Given the description of an element on the screen output the (x, y) to click on. 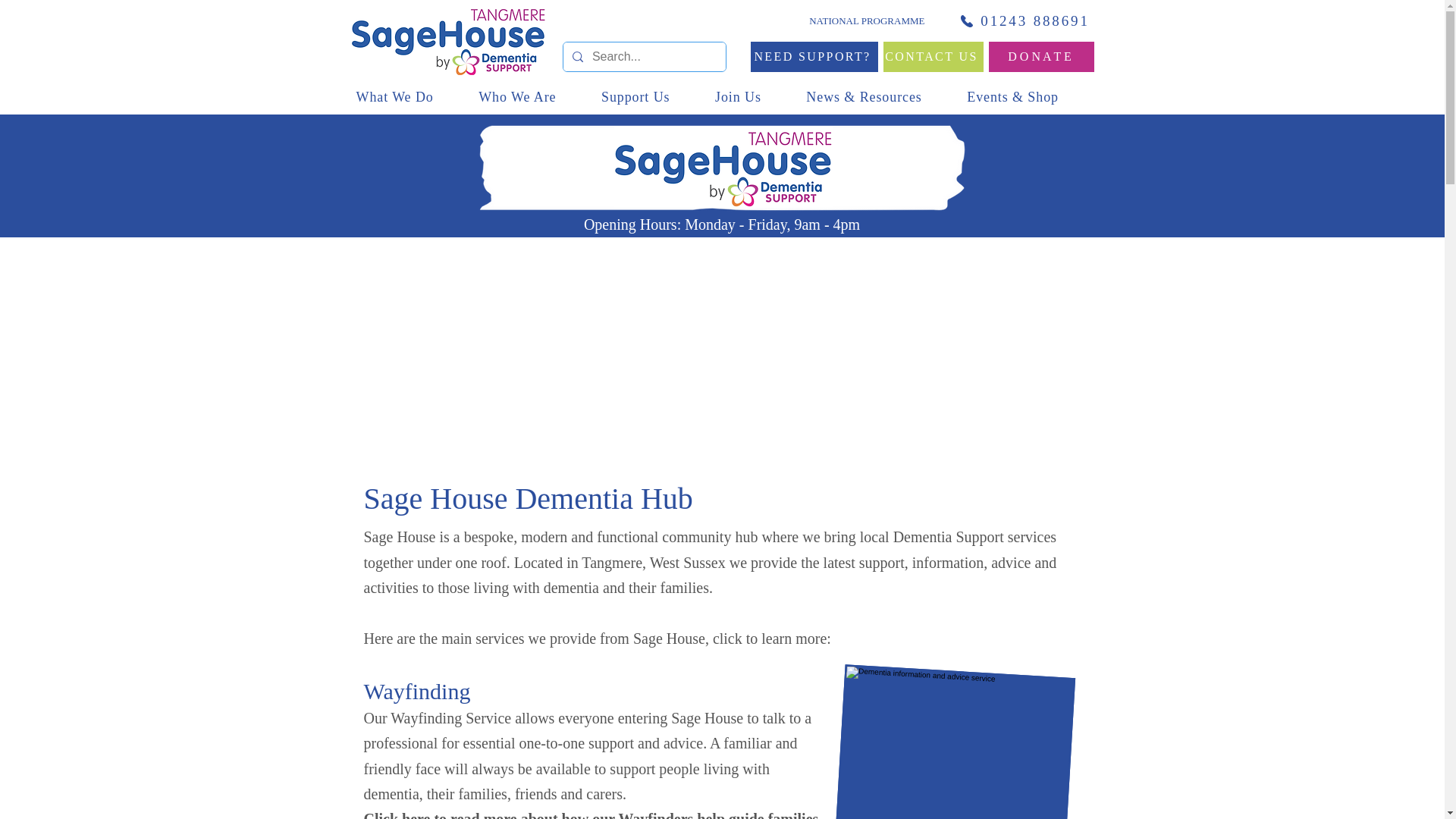
NEED SUPPORT? (814, 56)
NATIONAL PROGRAMME (843, 20)
01243 888691 (1023, 20)
What We Do (409, 97)
Support Us (649, 97)
CONTACT US (932, 56)
D O N A T E (1041, 56)
